Given the description of an element on the screen output the (x, y) to click on. 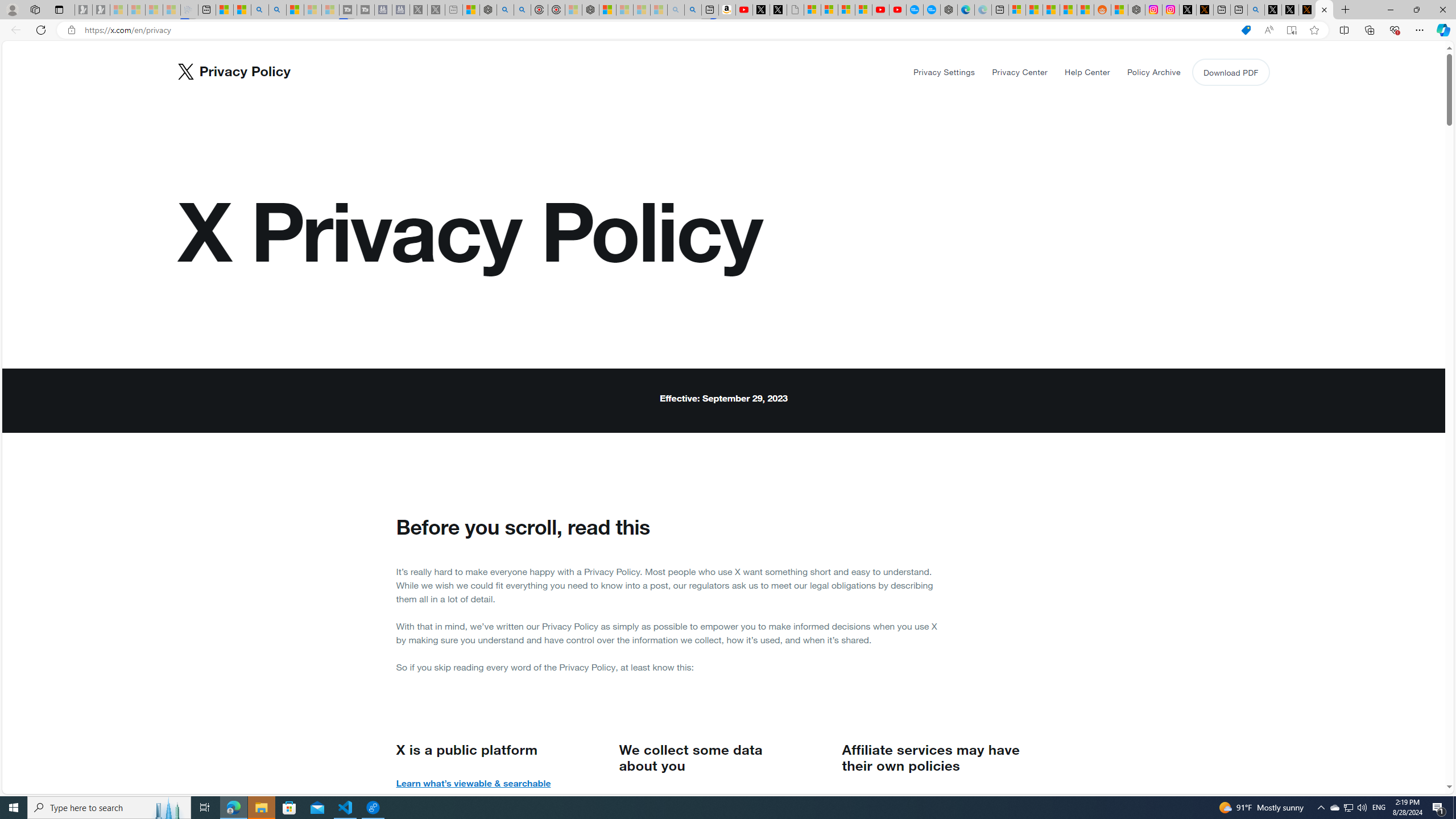
X (778, 9)
Help Center (1087, 72)
Profile / X (1273, 9)
Shopping in Microsoft Edge (1245, 29)
Enter Immersive Reader (F9) (1291, 29)
X - Sleeping (435, 9)
Nordace - Nordace has arrived Hong Kong (949, 9)
Microsoft Start - Sleeping (312, 9)
New tab - Sleeping (453, 9)
